Given the description of an element on the screen output the (x, y) to click on. 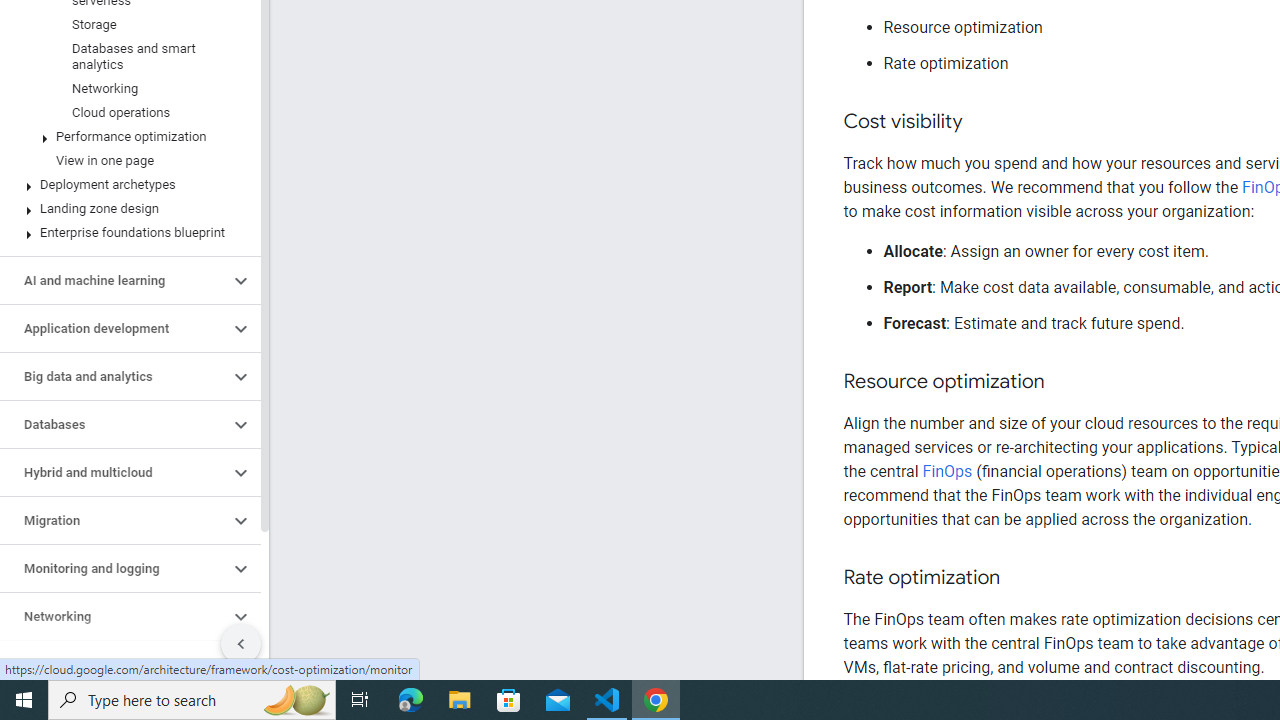
Copy link to this section: Cost visibility (982, 122)
Storage (126, 24)
Big data and analytics (114, 376)
Hybrid and multicloud (114, 472)
Enterprise foundations blueprint (126, 232)
Performance optimization (126, 137)
Copy link to this section: Rate optimization (1019, 578)
Deployment archetypes (126, 184)
Landing zone design (126, 209)
View in one page (126, 160)
Networking (126, 88)
Networking (114, 616)
Cloud operations (126, 112)
AI and machine learning (114, 281)
FinOps (946, 471)
